Given the description of an element on the screen output the (x, y) to click on. 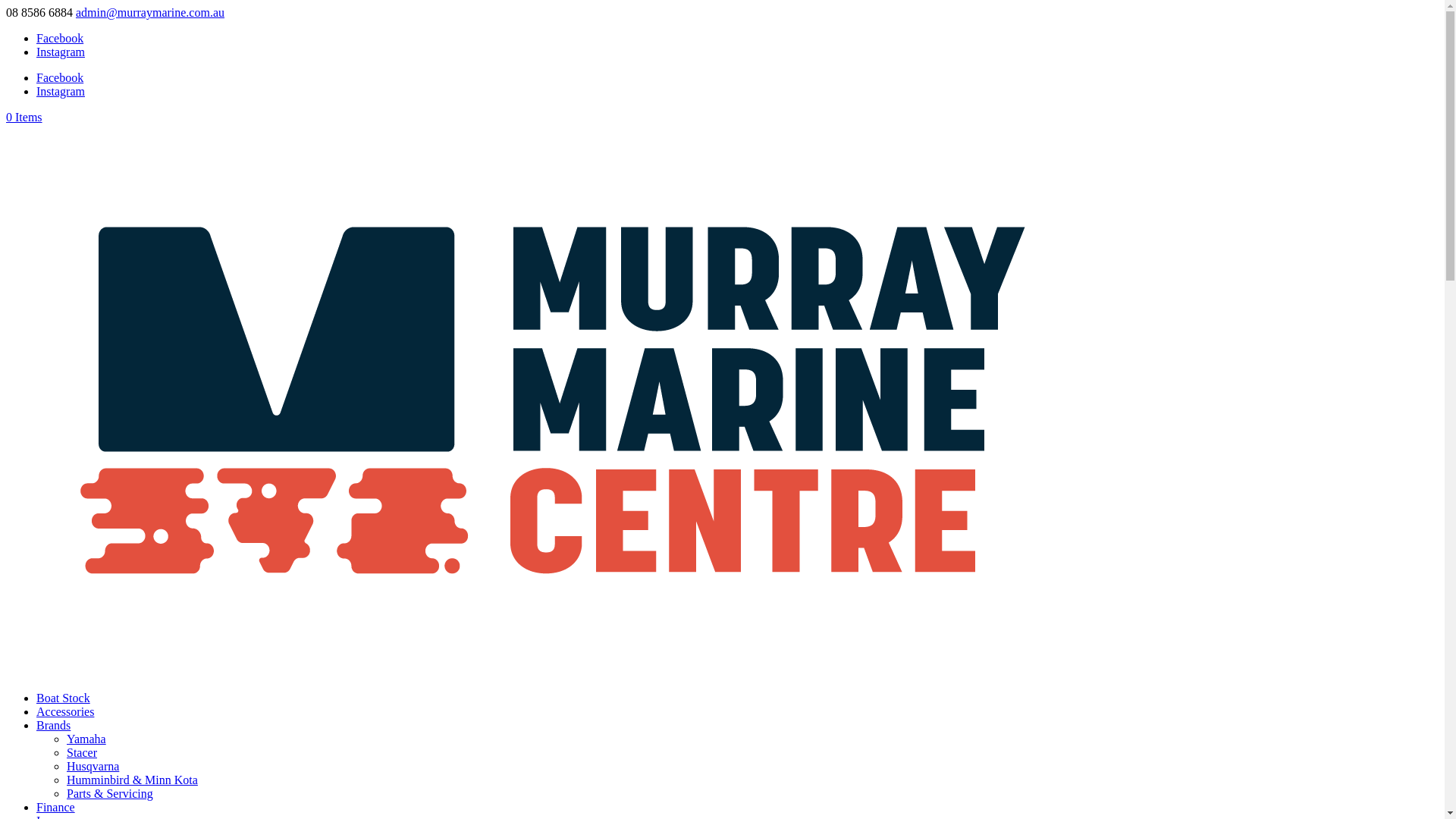
Facebook Element type: text (59, 37)
Parts & Servicing Element type: text (109, 793)
Facebook Element type: text (59, 77)
Stacer Element type: text (81, 752)
Yamaha Element type: text (86, 738)
Husqvarna Element type: text (92, 765)
admin@murraymarine.com.au Element type: text (149, 12)
Instagram Element type: text (60, 90)
Instagram Element type: text (60, 51)
Finance Element type: text (55, 806)
Accessories Element type: text (65, 711)
Boat Stock Element type: text (63, 697)
Humminbird & Minn Kota Element type: text (131, 779)
0 Items Element type: text (24, 116)
Brands Element type: text (53, 724)
